Given the description of an element on the screen output the (x, y) to click on. 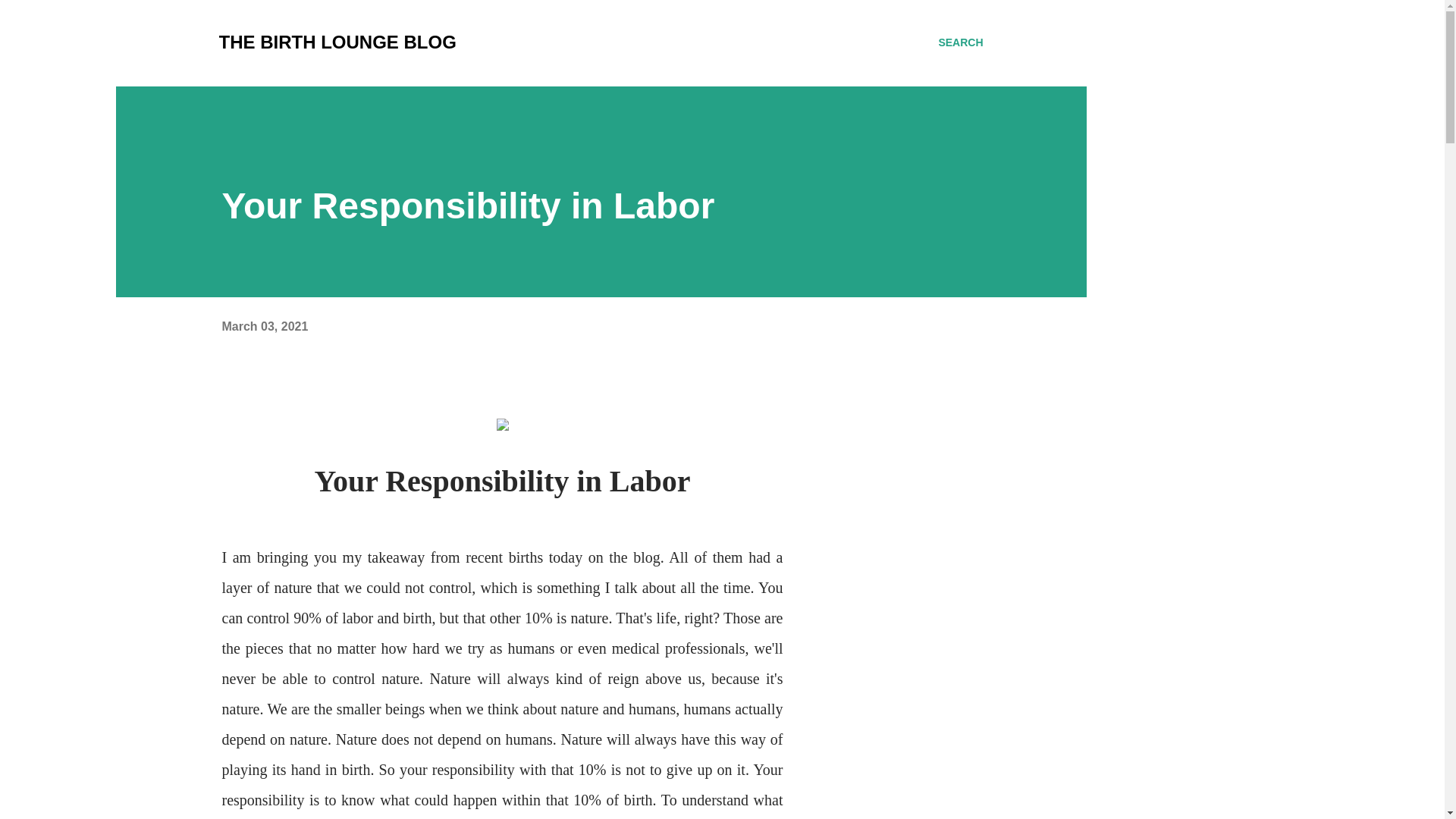
March 03, 2021 (264, 326)
SEARCH (959, 42)
THE BIRTH LOUNGE BLOG (336, 41)
permanent link (264, 326)
